Given the description of an element on the screen output the (x, y) to click on. 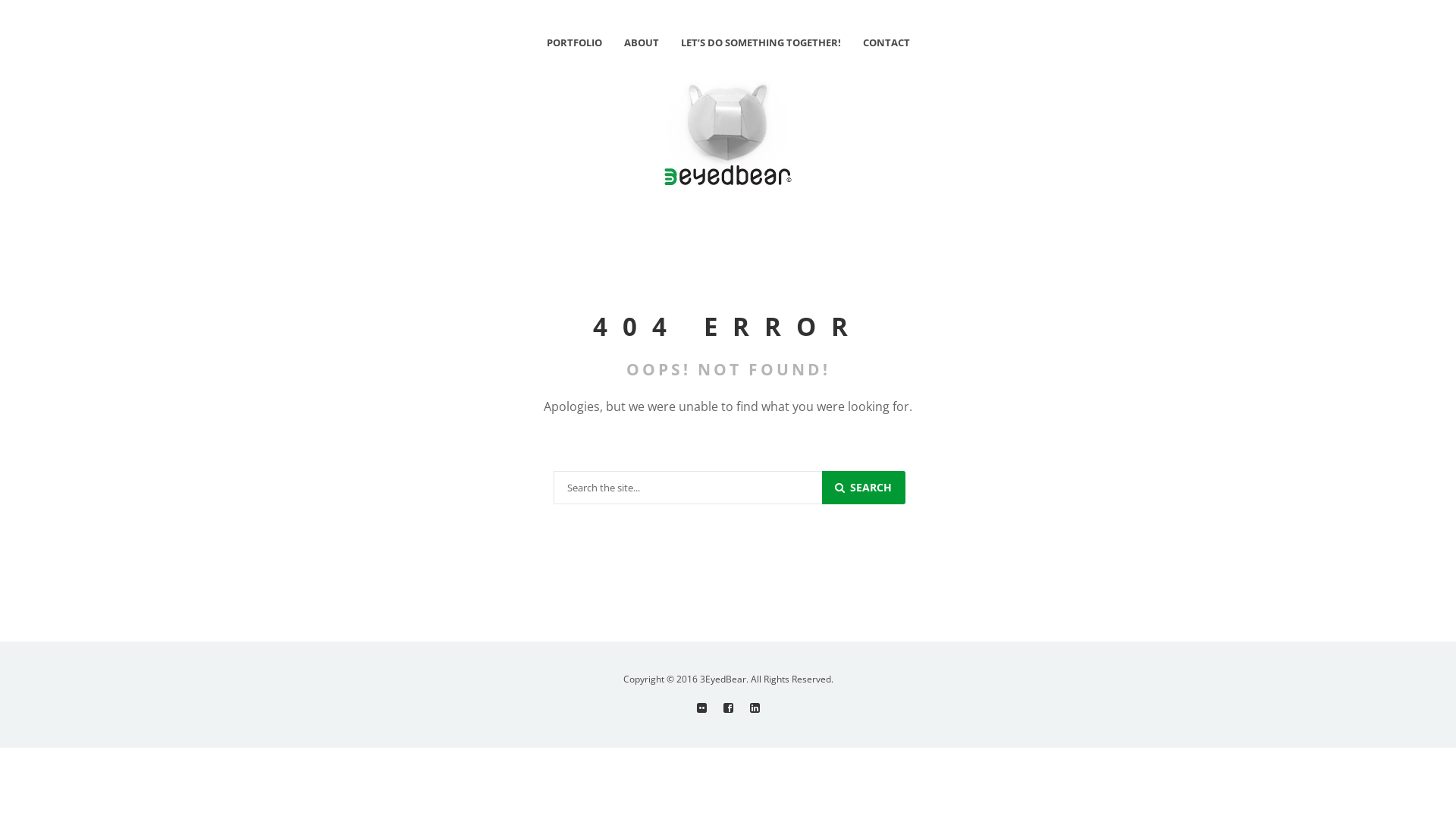
Flickr Element type: hover (701, 707)
PORTFOLIO Element type: text (573, 42)
LinkedIn Element type: hover (754, 707)
Search the site... Element type: hover (688, 487)
ABOUT Element type: text (640, 42)
Facebook Element type: hover (728, 707)
CONTACT Element type: text (886, 42)
SEARCH Element type: text (863, 487)
